Given the description of an element on the screen output the (x, y) to click on. 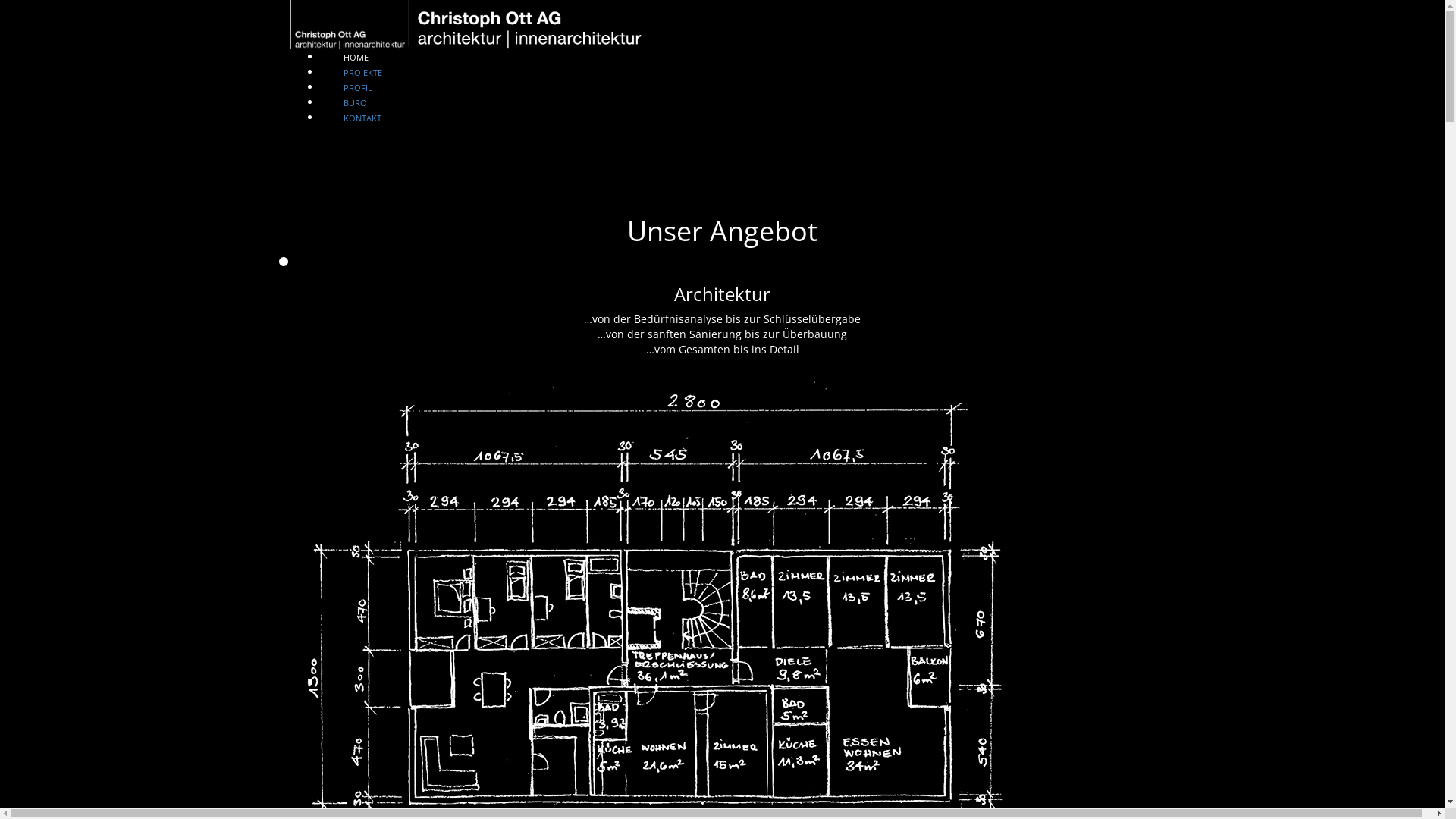
KONTAKT Element type: text (361, 104)
PROFIL Element type: text (357, 74)
PROJEKTE Element type: text (362, 58)
HOME Element type: text (355, 43)
